Given the description of an element on the screen output the (x, y) to click on. 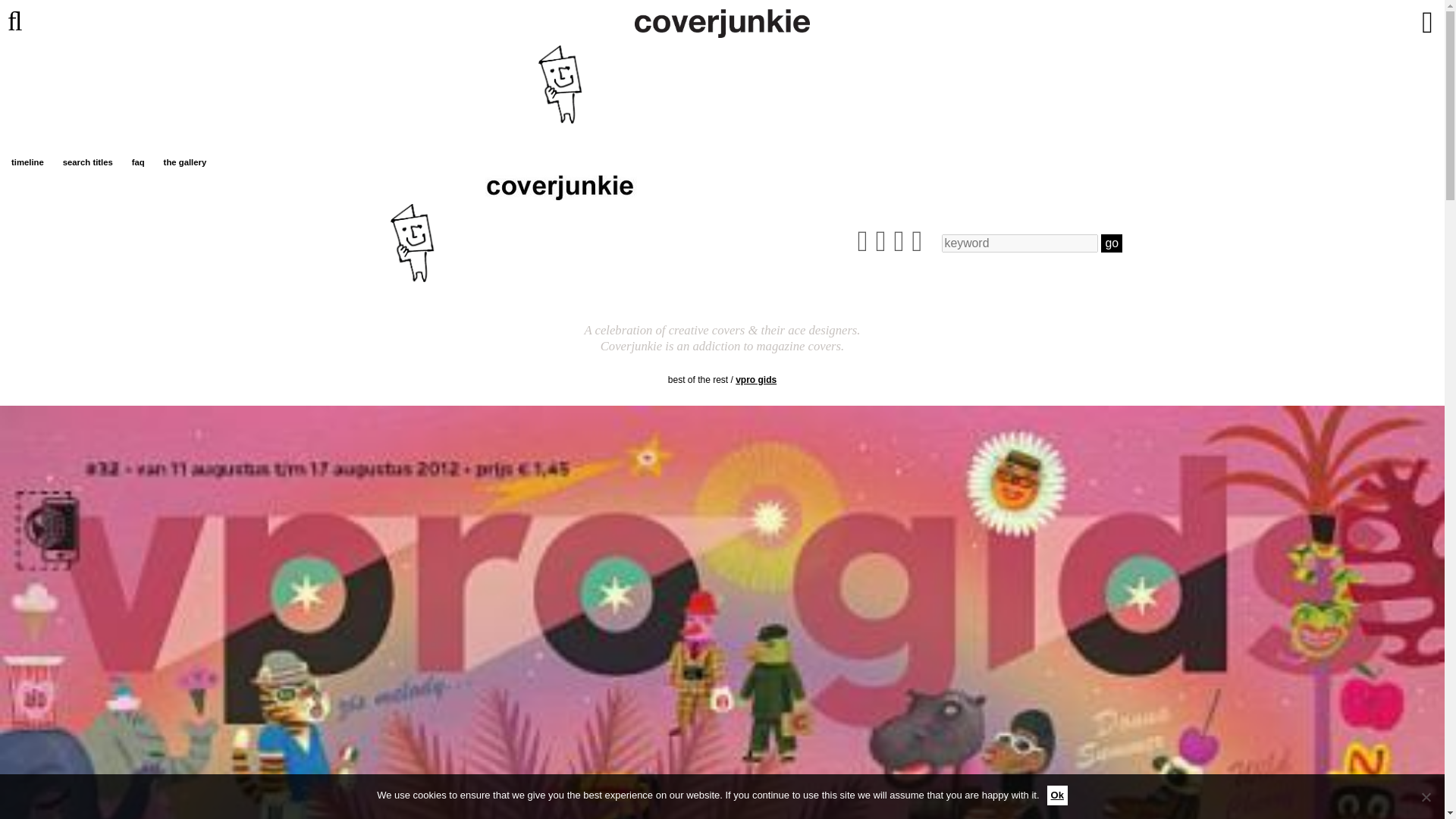
search titles (87, 162)
the gallery (184, 162)
faq (138, 162)
No (1425, 795)
timeline (27, 162)
go (1111, 243)
